Given the description of an element on the screen output the (x, y) to click on. 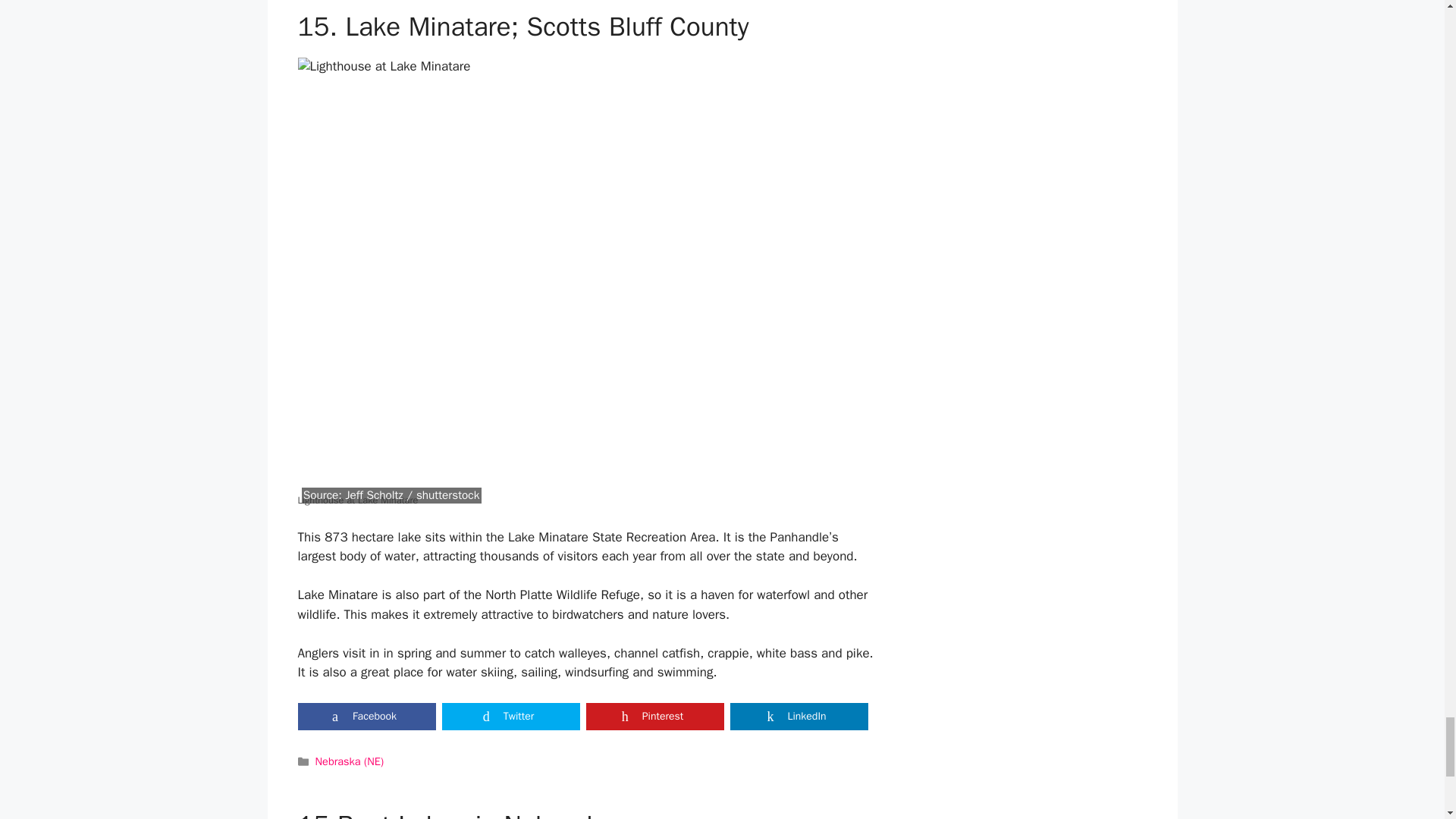
Share on Pinterest (654, 716)
Twitter (510, 716)
LinkedIn (798, 716)
Share on Twitter (510, 716)
Facebook (366, 716)
Share on LinkedIn (798, 716)
Pinterest (654, 716)
Share on Facebook (366, 716)
